Given the description of an element on the screen output the (x, y) to click on. 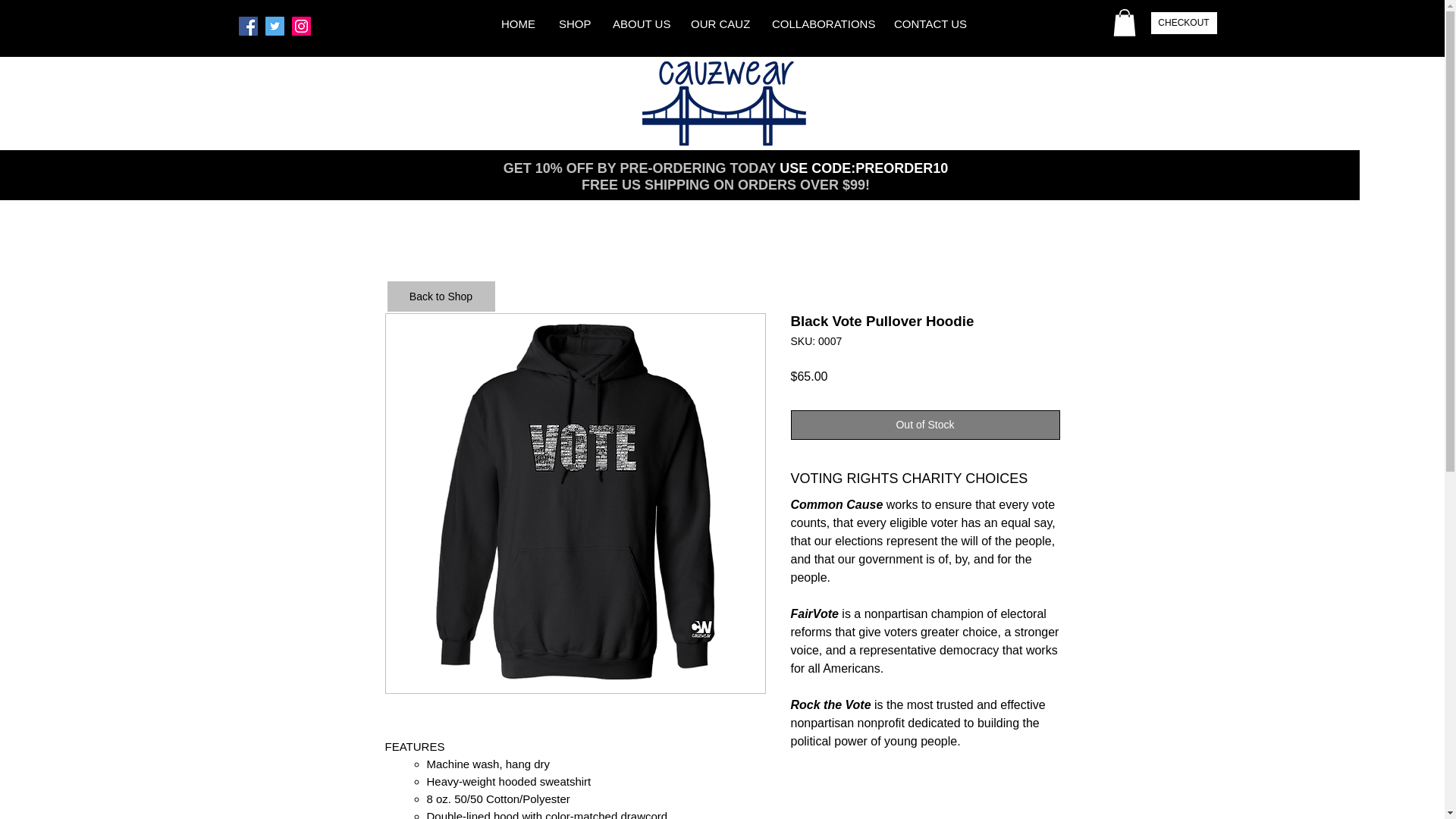
HOME (518, 23)
CHECKOUT (1184, 23)
Back to Shop (441, 296)
ABOUT US (638, 23)
OUR CAUZ (719, 23)
COLLABORATIONS (821, 23)
CONTACT US (929, 23)
SHOP (573, 23)
Out of Stock (924, 424)
